Given the description of an element on the screen output the (x, y) to click on. 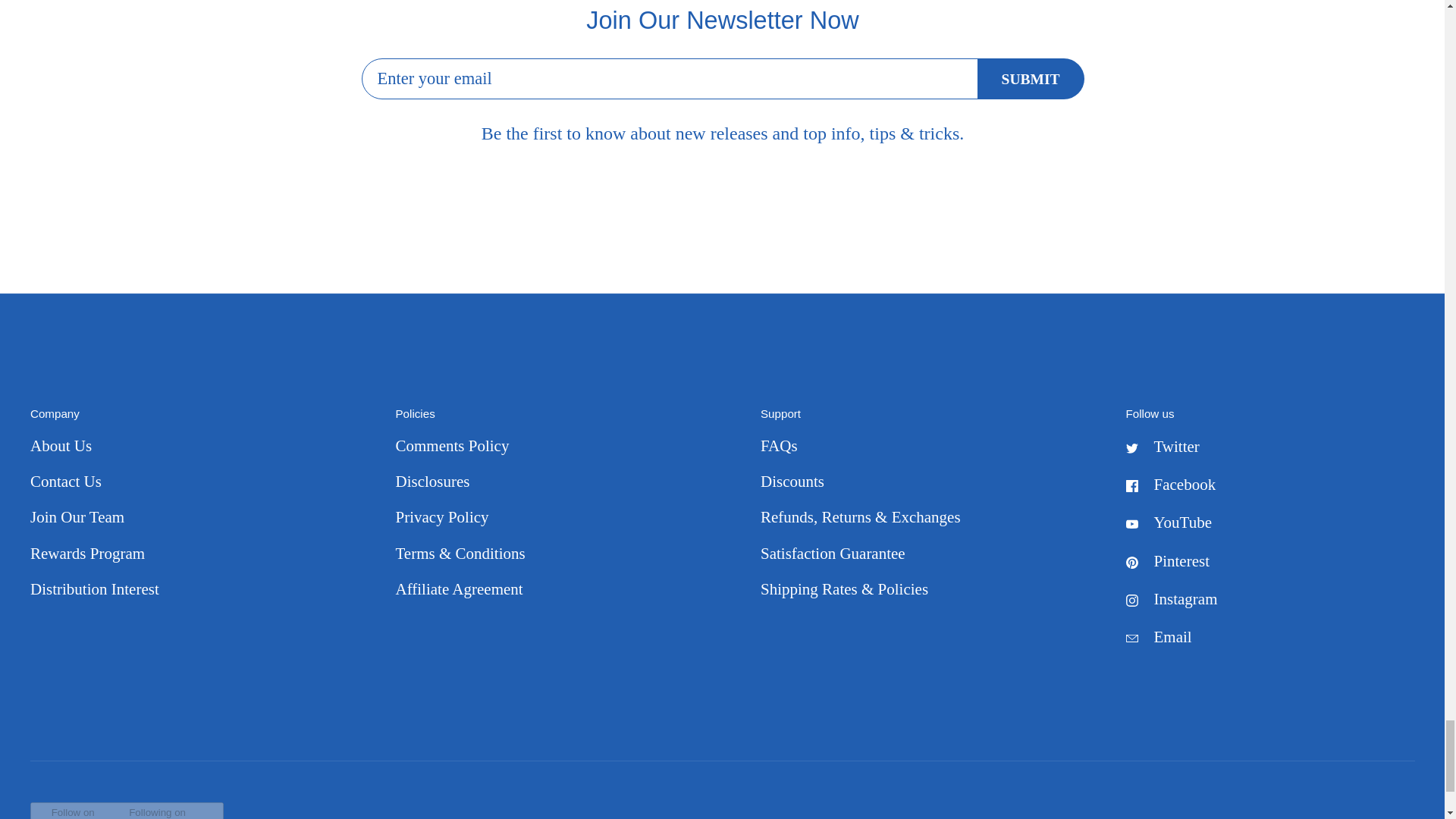
SUBMIT (1030, 78)
